Given the description of an element on the screen output the (x, y) to click on. 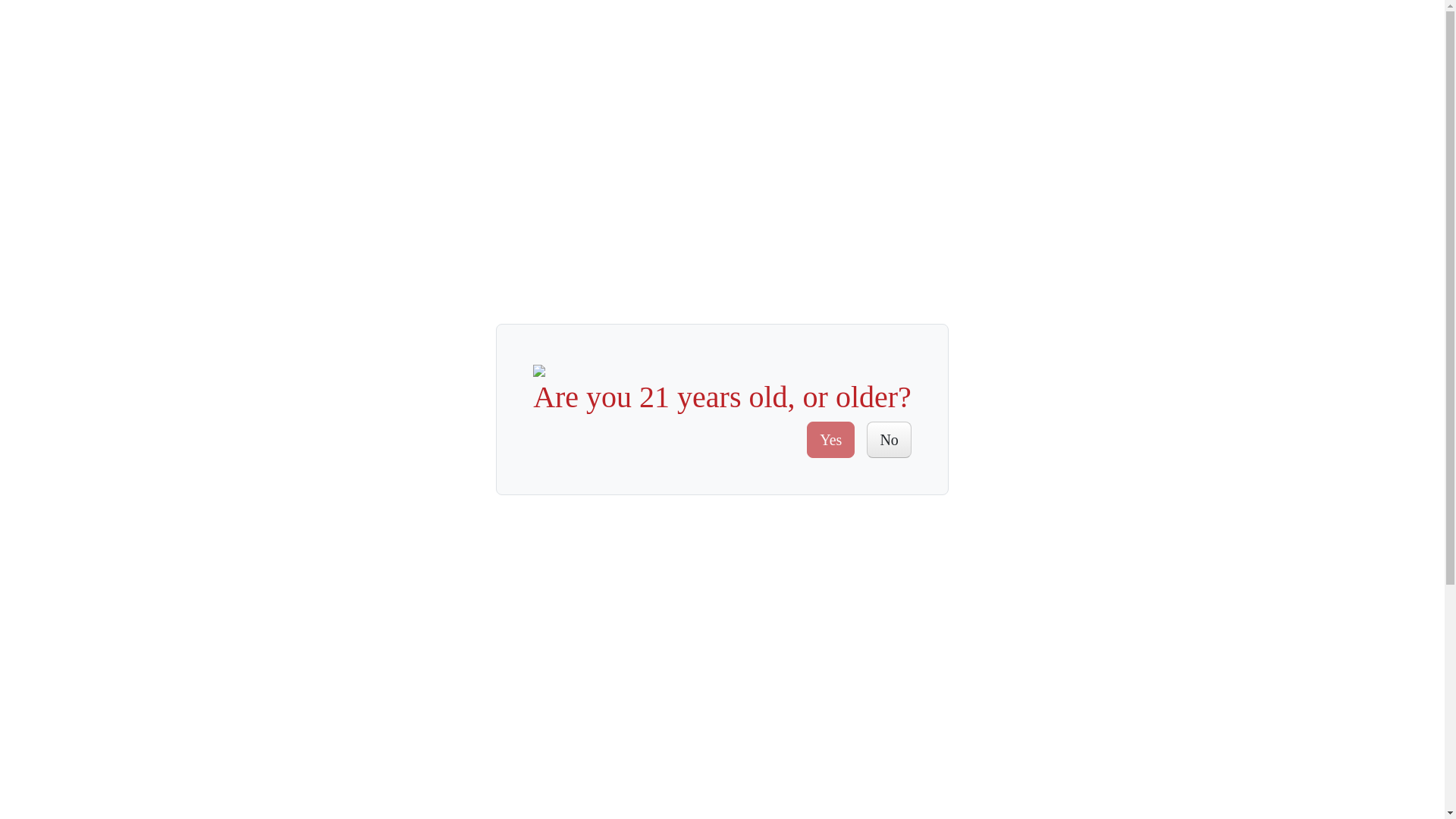
WINE (724, 99)
CONTACT US (1011, 31)
HOURS (649, 99)
